Given the description of an element on the screen output the (x, y) to click on. 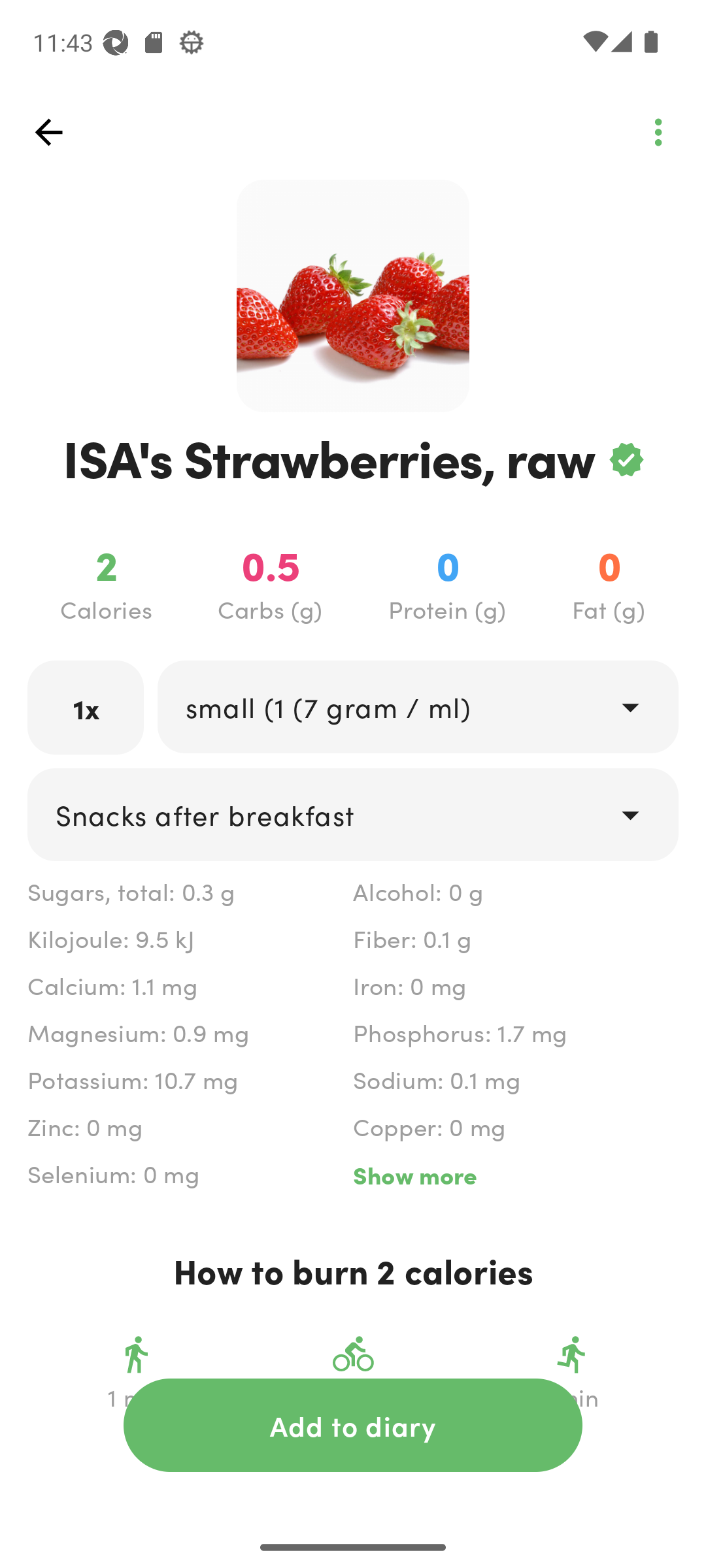
top_left_action (48, 132)
top_left_action (658, 132)
1x labeled_edit_text (85, 707)
drop_down small (1 (7 gram / ml) (417, 706)
drop_down Snacks after breakfast (352, 814)
Show more (515, 1174)
action_button Add to diary (352, 1425)
